Given the description of an element on the screen output the (x, y) to click on. 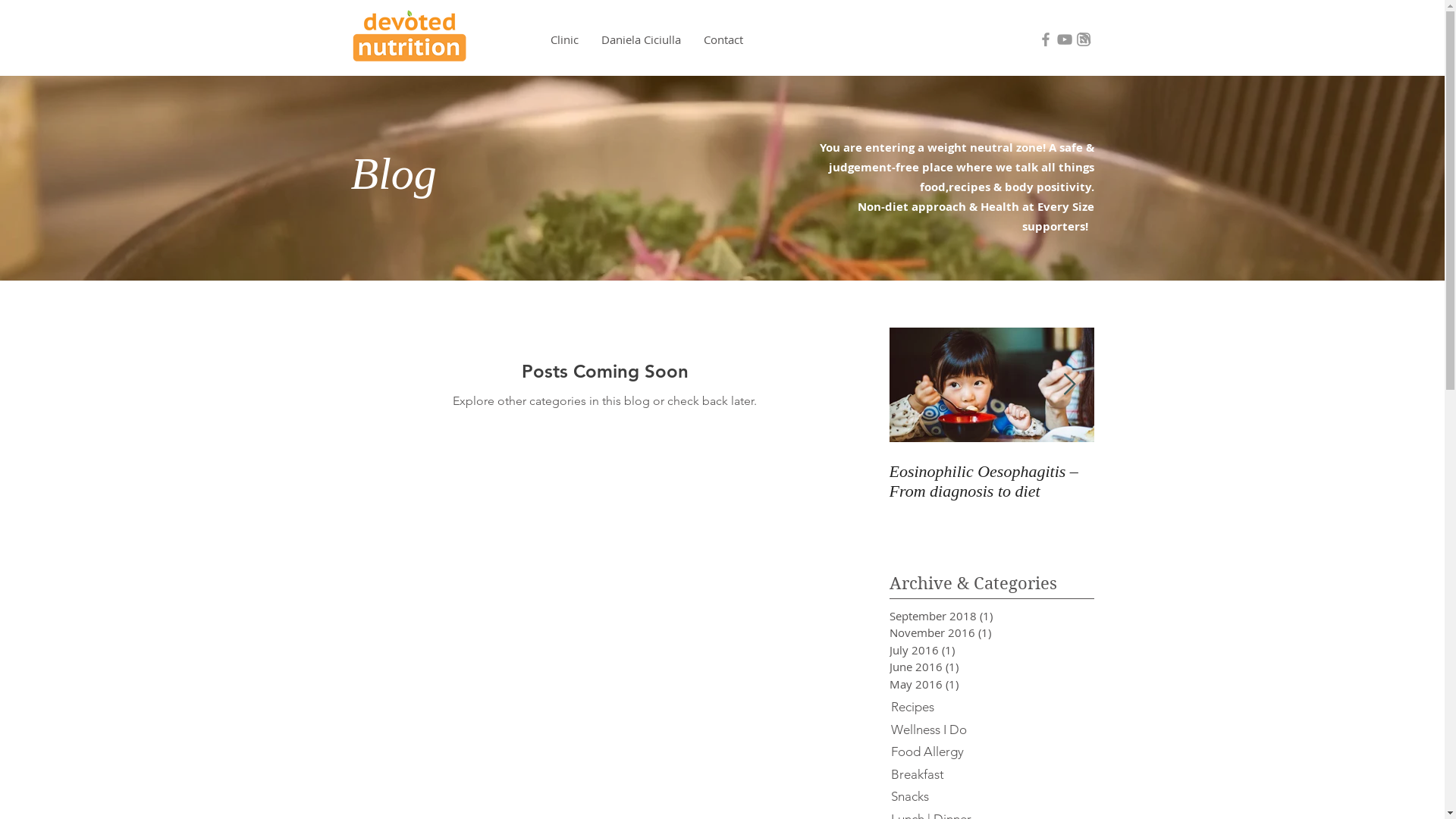
June 2016 (1) Element type: text (968, 666)
Breakfast Element type: text (990, 774)
July 2016 (1) Element type: text (968, 649)
Feed Element type: hover (1084, 37)
September 2018 (1) Element type: text (968, 615)
Recipes Element type: text (990, 707)
Wellness I Do Element type: text (990, 729)
Daniela Ciciulla Element type: text (640, 39)
May 2016 (1) Element type: text (968, 684)
November 2016 (1) Element type: text (968, 632)
Food Allergy Element type: text (990, 751)
Nigella Omelette for One Element type: text (1195, 471)
Clinic Element type: text (563, 39)
Contact Element type: text (722, 39)
Snacks Element type: text (990, 796)
